Given the description of an element on the screen output the (x, y) to click on. 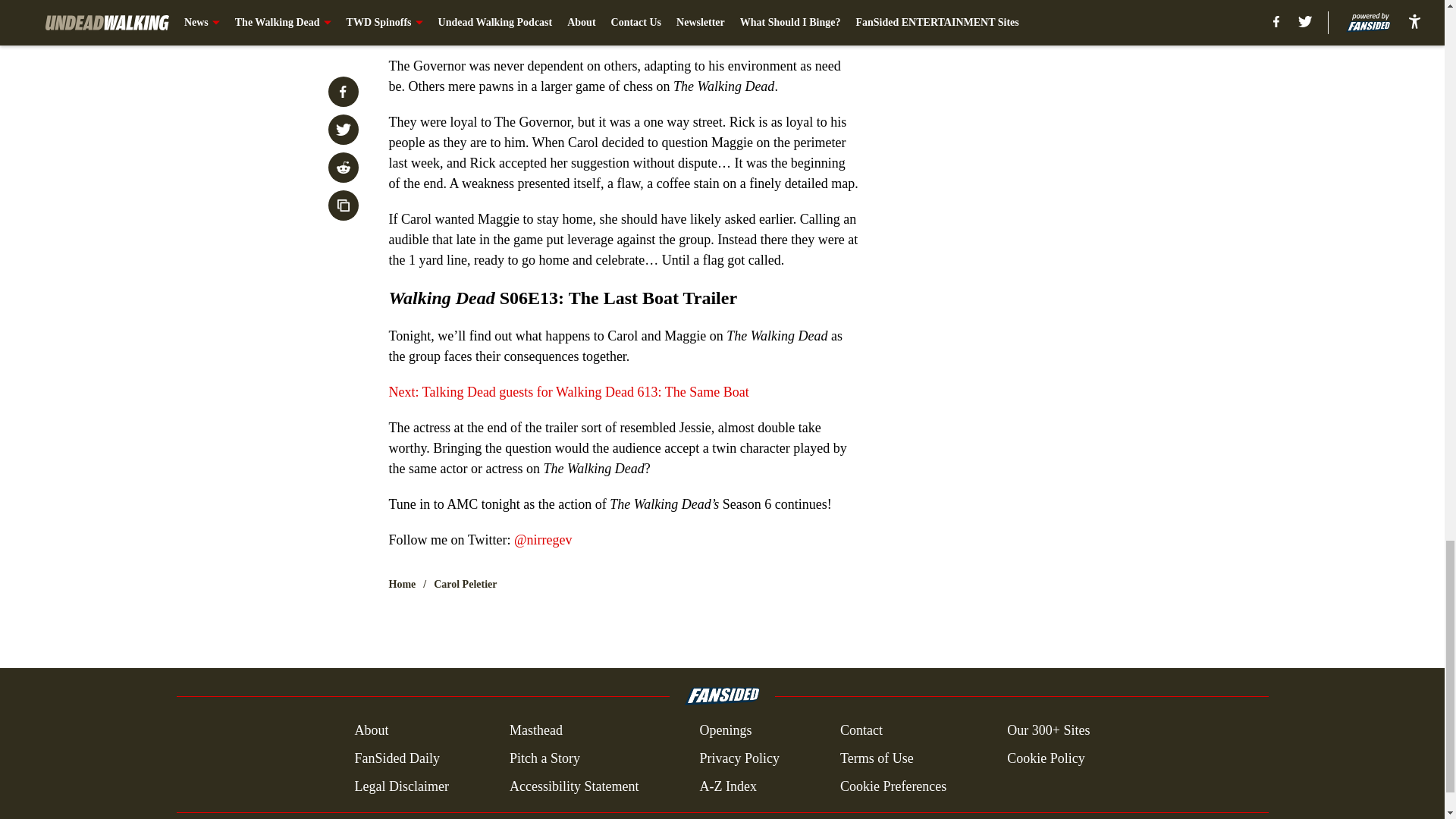
Carol Peletier (464, 584)
Home (401, 584)
